Given the description of an element on the screen output the (x, y) to click on. 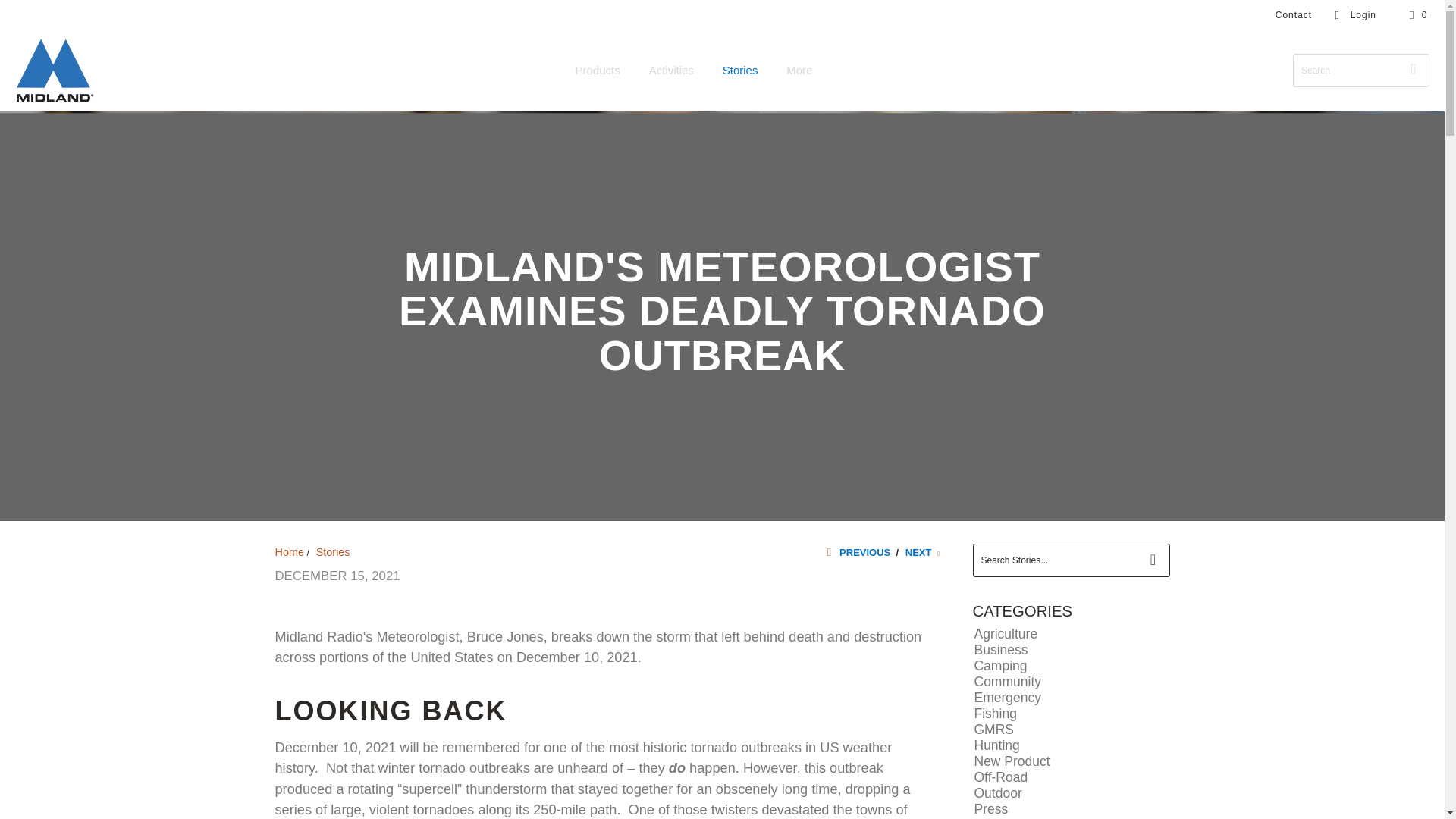
Login (1355, 15)
My Account  (1355, 15)
Contact (1293, 15)
Activities (671, 70)
Products (597, 70)
Stories (332, 552)
Stories (740, 70)
More (799, 70)
Midland Radio (288, 552)
Midland Radio (54, 70)
